Given the description of an element on the screen output the (x, y) to click on. 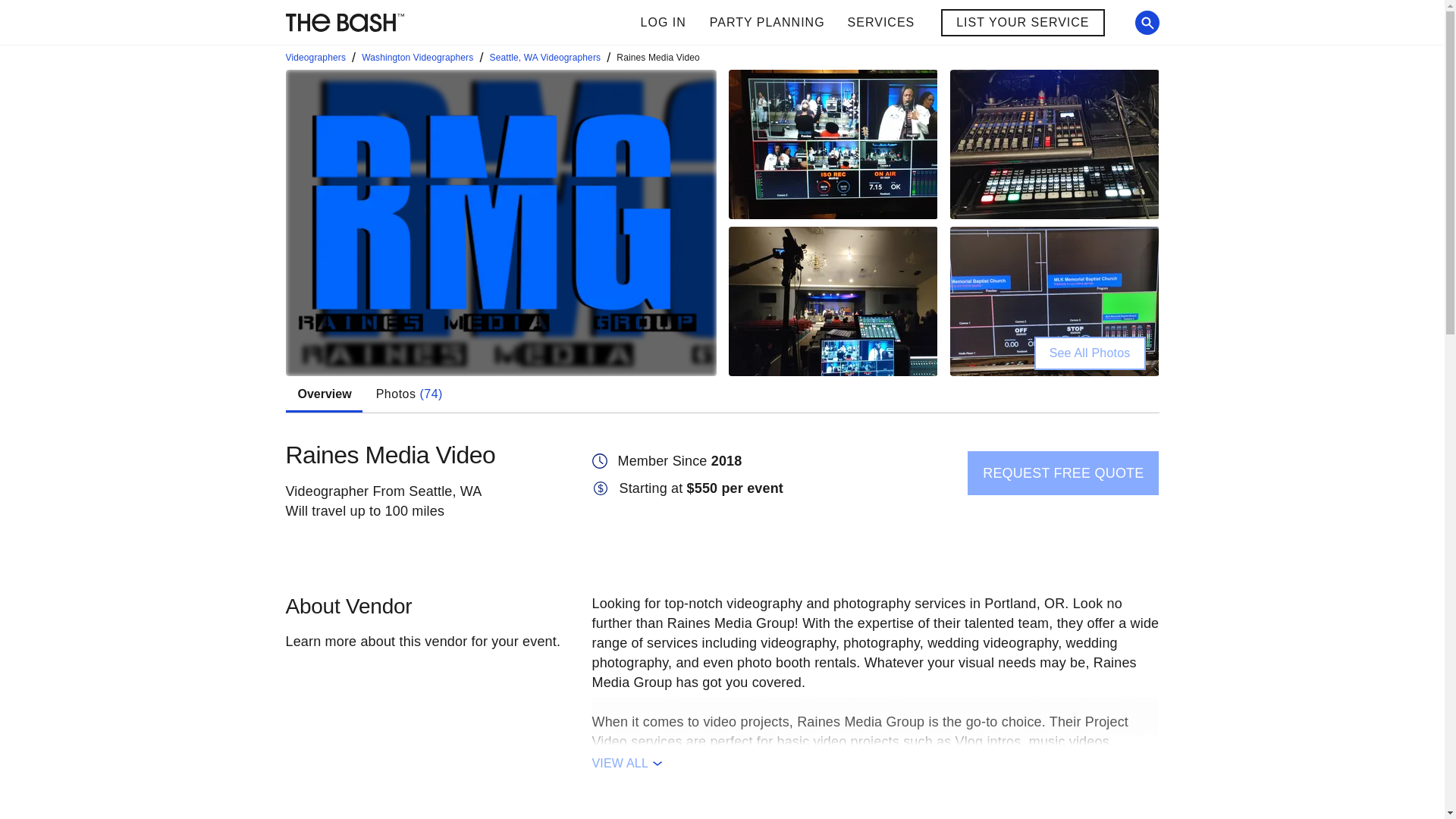
LOG IN (662, 22)
LIST YOUR SERVICE (812, 22)
